Given the description of an element on the screen output the (x, y) to click on. 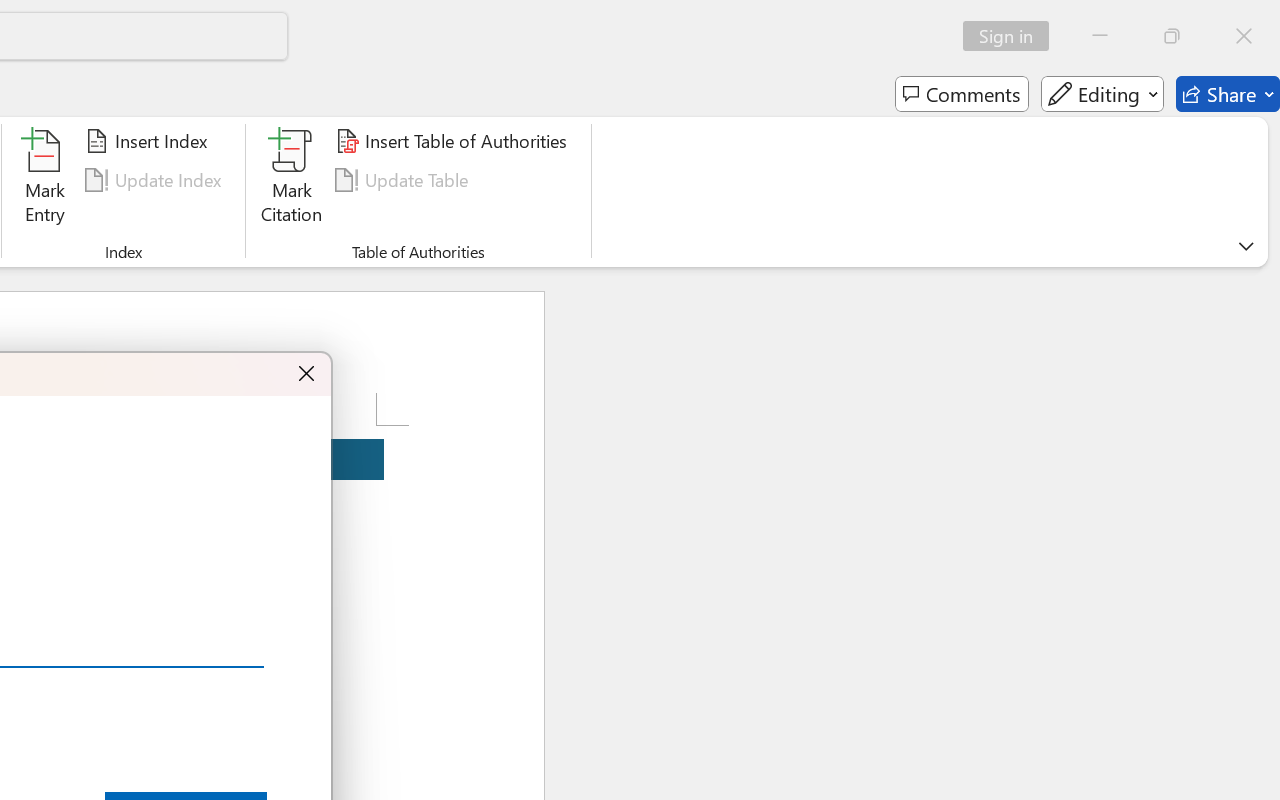
Insert Index... (149, 141)
Mark Entry... (44, 179)
Sign in (1012, 35)
Insert Table of Authorities... (453, 141)
Update Table (404, 179)
Editing (1101, 94)
Mark Citation... (292, 179)
Update Index (156, 179)
